Given the description of an element on the screen output the (x, y) to click on. 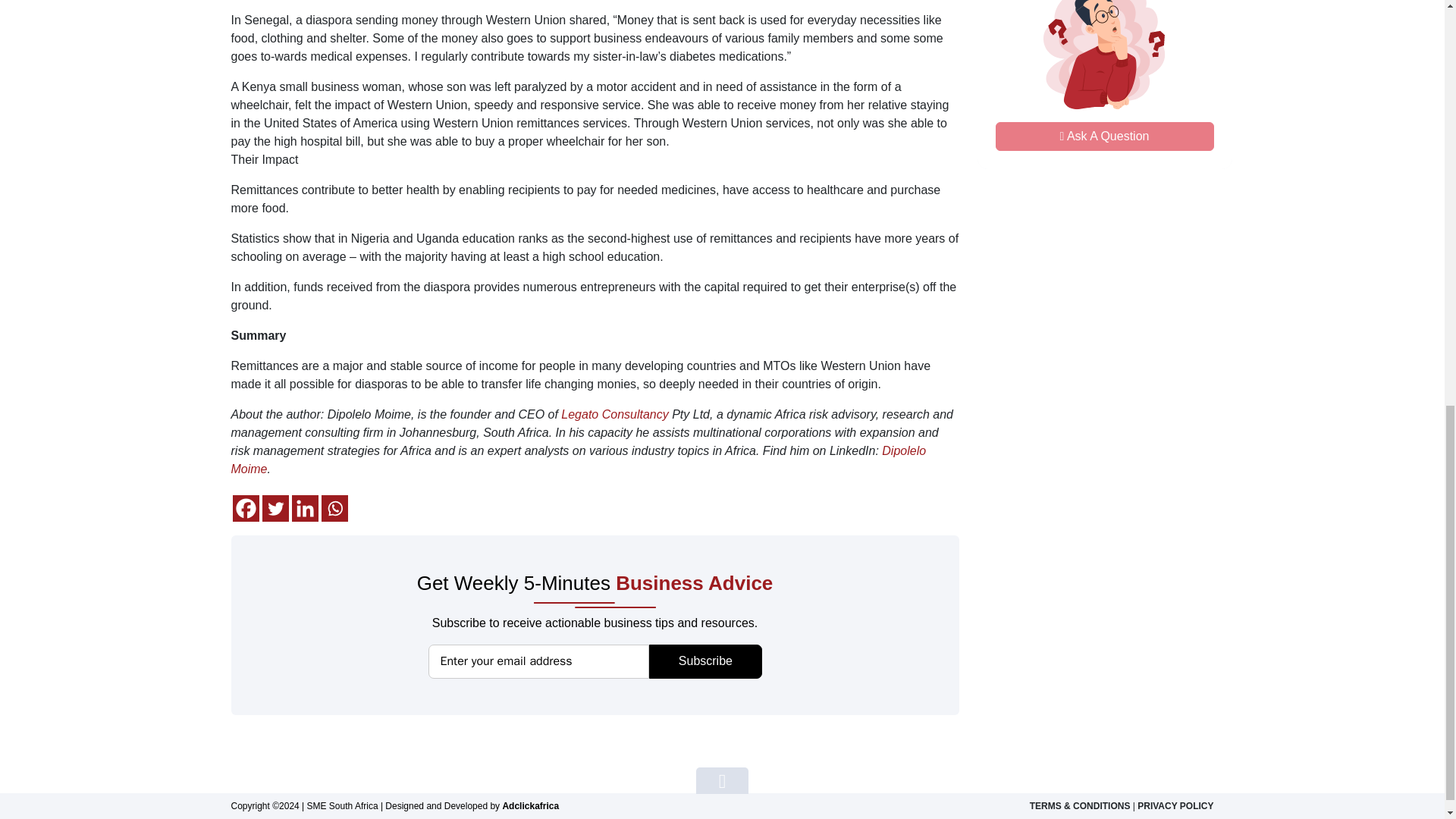
Twitter (1103, 84)
Dipolelo Moime (275, 508)
Facebook (578, 459)
Linkedin (245, 508)
Ask A Question (304, 508)
Whatsapp (1103, 136)
Legato Consultancy (334, 508)
Subscribe (614, 413)
